Given the description of an element on the screen output the (x, y) to click on. 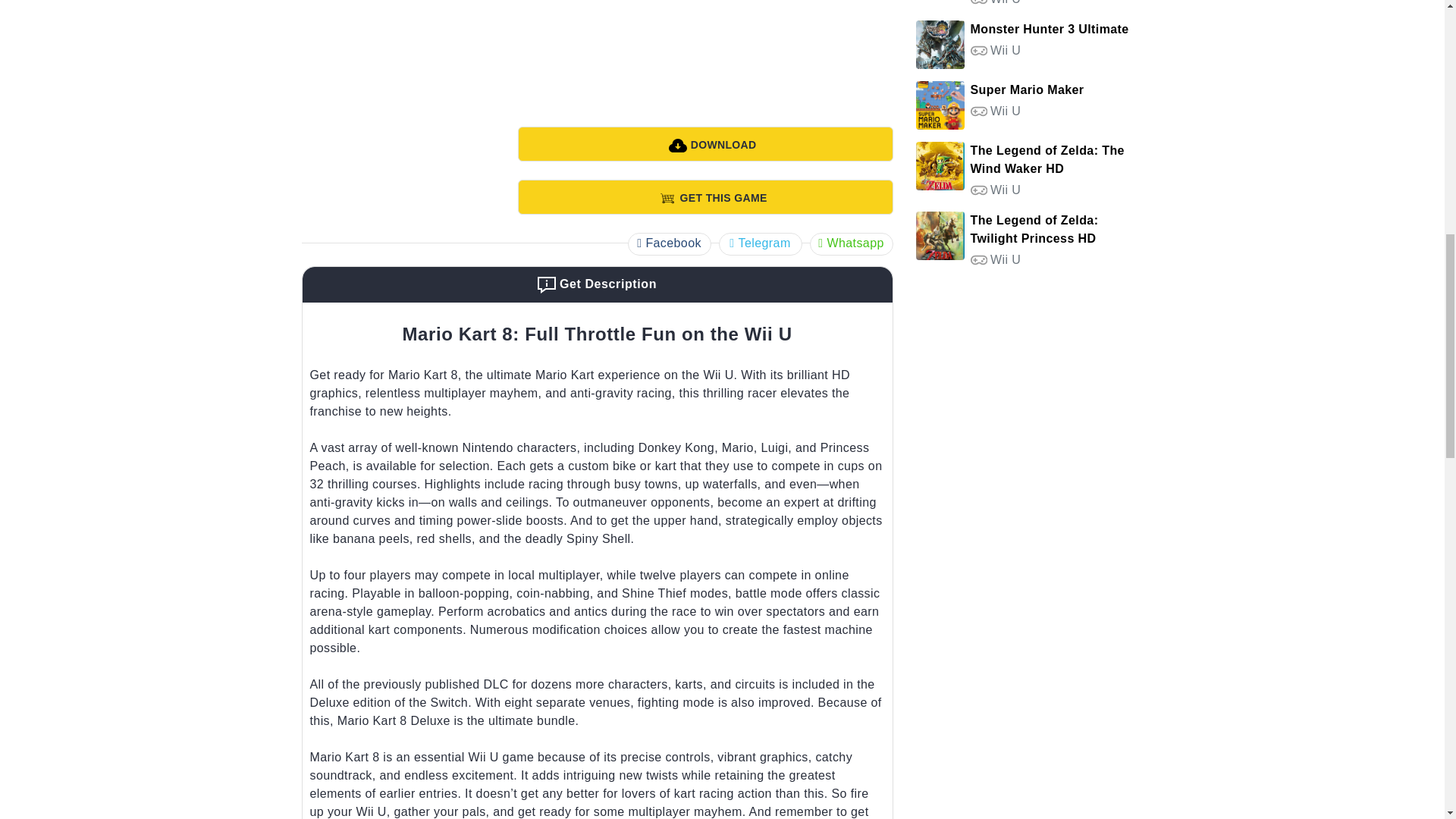
Facebook (669, 243)
DOWNLOAD (704, 143)
GET THIS GAME (704, 196)
Advertisement (704, 54)
